Given the description of an element on the screen output the (x, y) to click on. 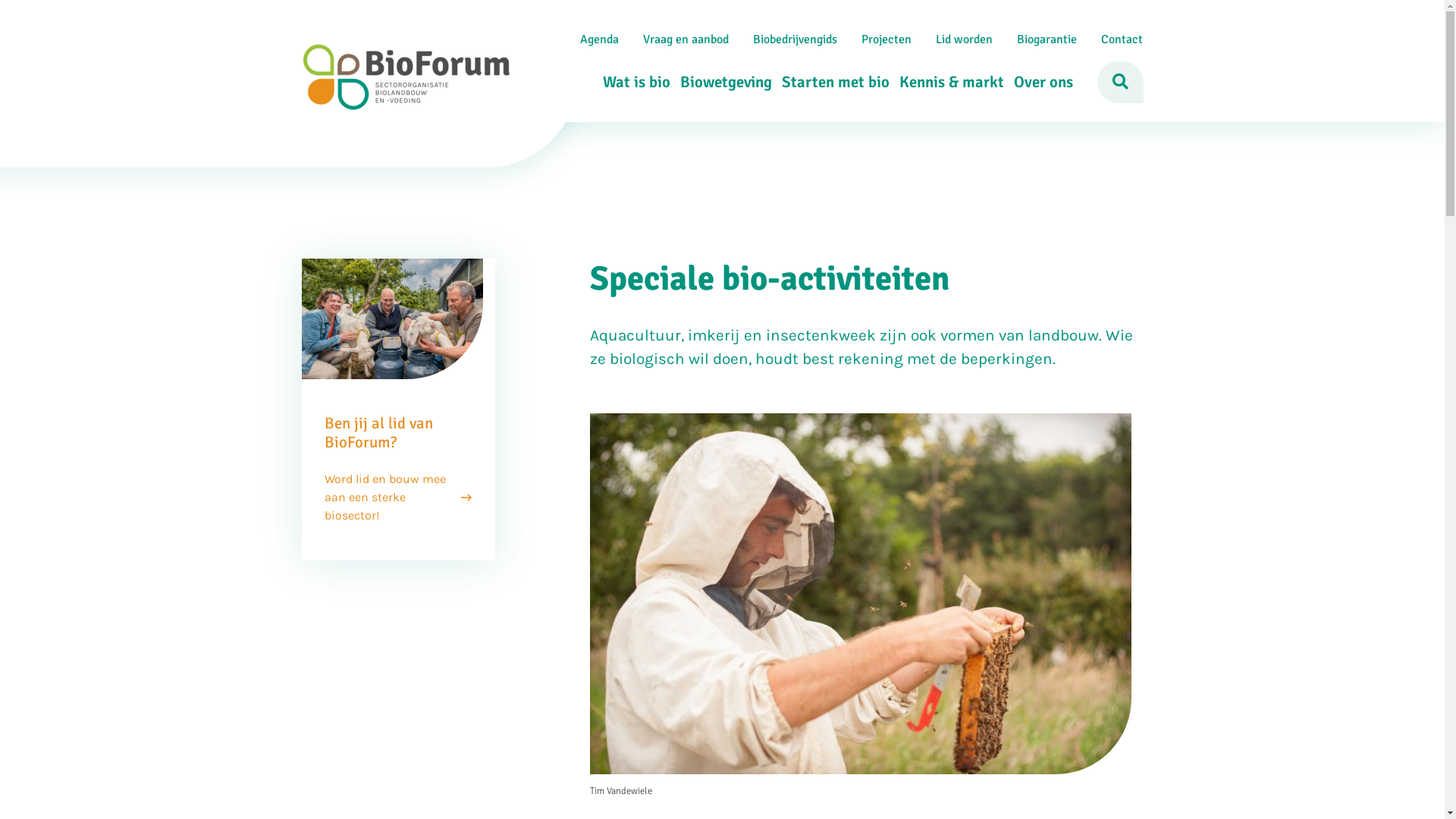
Biobedrijvengids Element type: text (794, 39)
Lid worden Element type: text (963, 39)
Overslaan en naar de inhoud gaan Element type: text (721, 1)
Contact Element type: text (1121, 39)
Projecten Element type: text (886, 39)
Word lid en bouw mee aan een sterke biosector! Element type: text (397, 497)
Biogarantie Element type: text (1046, 39)
Wat is bio Element type: text (632, 81)
Biowetgeving Element type: text (720, 81)
bioforum_logo Element type: hover (405, 76)
Over ons Element type: text (1038, 81)
Agenda Element type: text (598, 39)
Kennis & markt Element type: text (946, 81)
Starten met bio Element type: text (830, 81)
Vraag en aanbod Element type: text (685, 39)
